Given the description of an element on the screen output the (x, y) to click on. 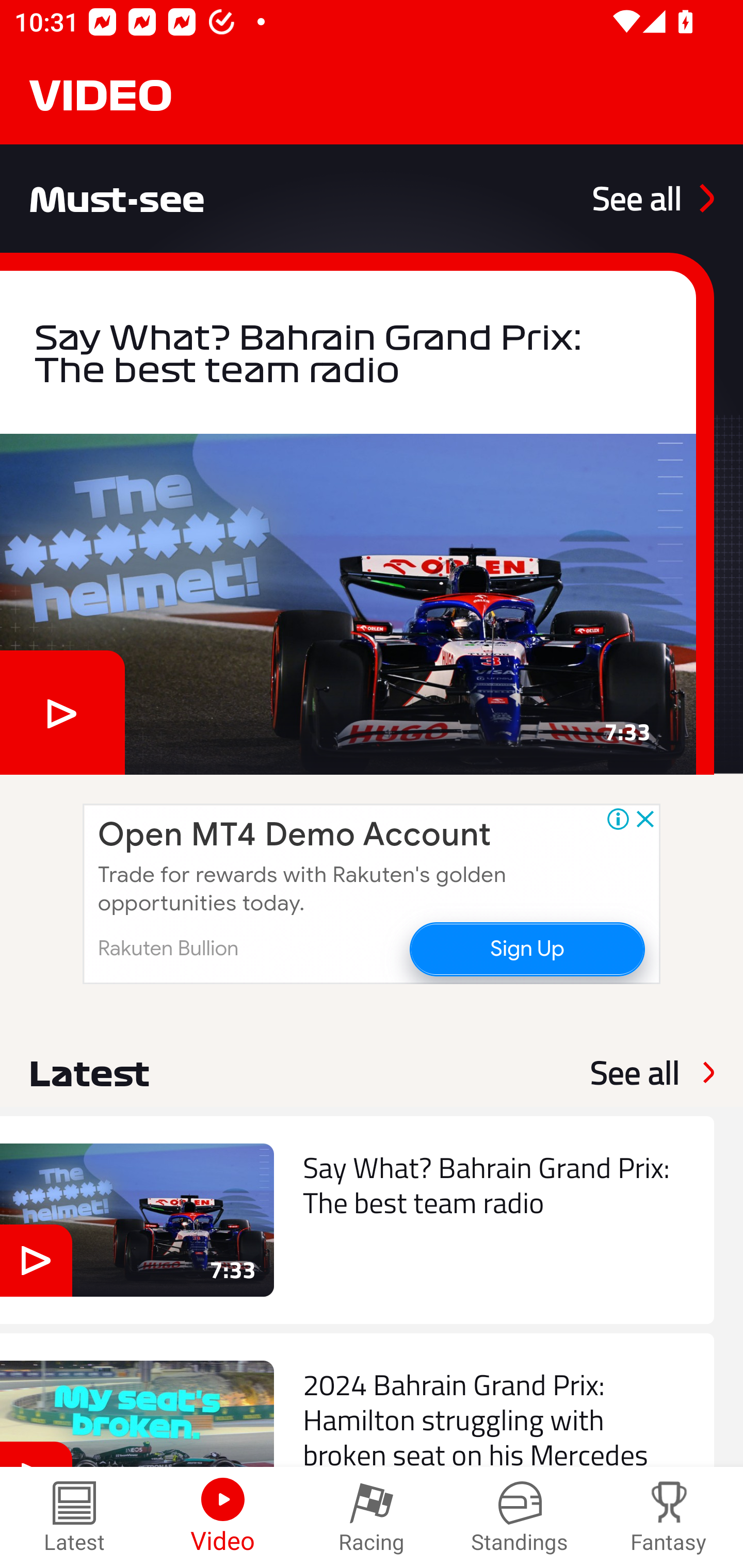
See all (653, 198)
Open MT4 Demo Account (294, 834)
Sign Up (526, 948)
Rakuten Bullion (168, 948)
See all (634, 1072)
Latest (74, 1517)
Racing (371, 1517)
Standings (519, 1517)
Fantasy (668, 1517)
